Given the description of an element on the screen output the (x, y) to click on. 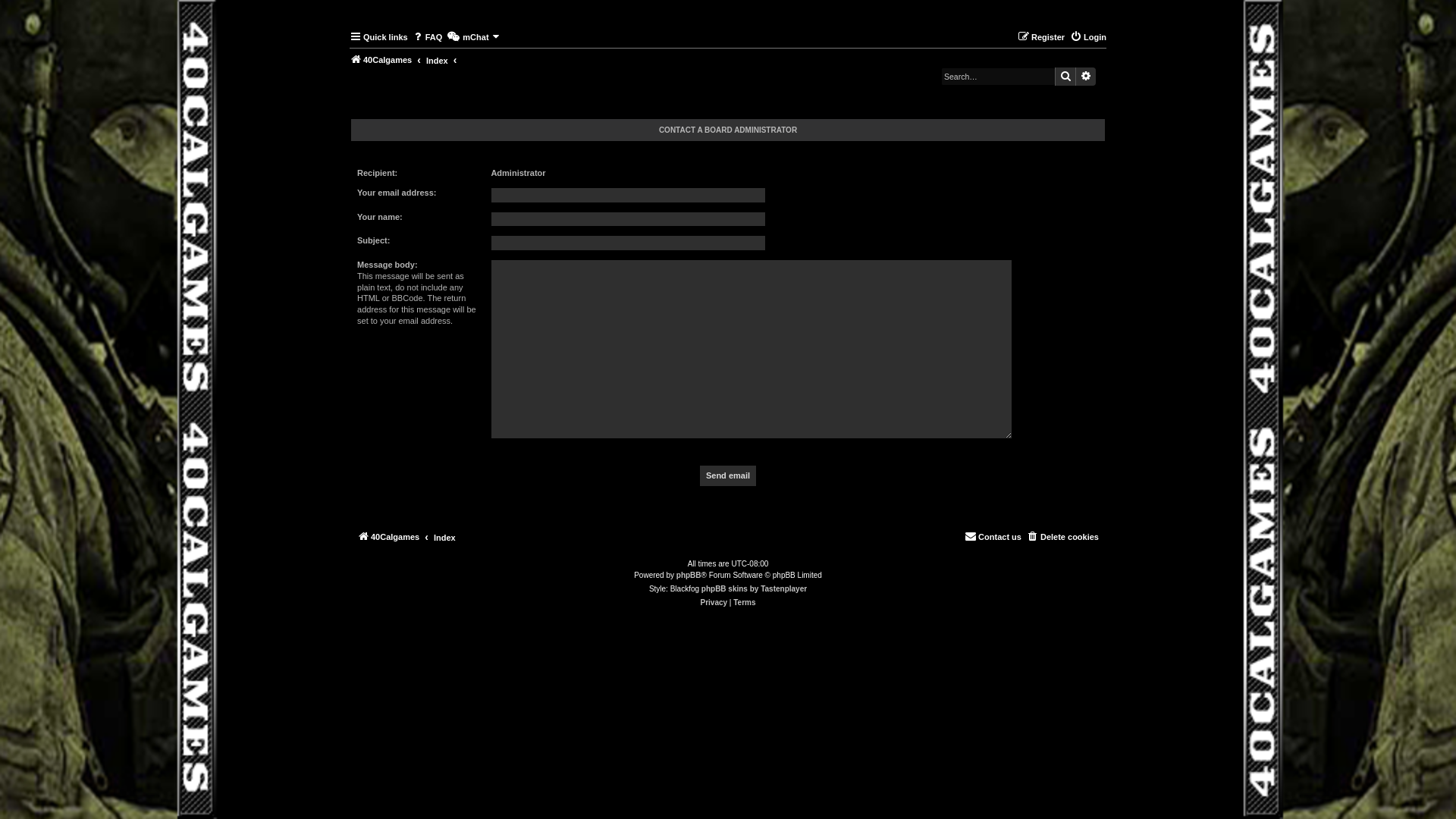
Contact us Element type: text (992, 536)
Privacy Element type: text (713, 602)
SEARCH Element type: text (1064, 76)
Index Element type: text (444, 537)
Send email Element type: text (727, 475)
Terms Element type: text (744, 602)
40Calgames Element type: text (380, 59)
mChat Element type: text (473, 37)
phpBB Element type: text (688, 575)
ADVANCED SEARCH Element type: text (1085, 76)
Index Element type: text (437, 60)
Login Element type: text (1088, 37)
phpBB skins by Tastenplayer Element type: text (753, 589)
FAQ Element type: text (426, 37)
Quick links Element type: text (378, 37)
Delete cookies Element type: text (1062, 536)
Register Element type: text (1040, 37)
40Calgames Element type: text (388, 536)
Search for keywords Element type: hover (997, 76)
